Given the description of an element on the screen output the (x, y) to click on. 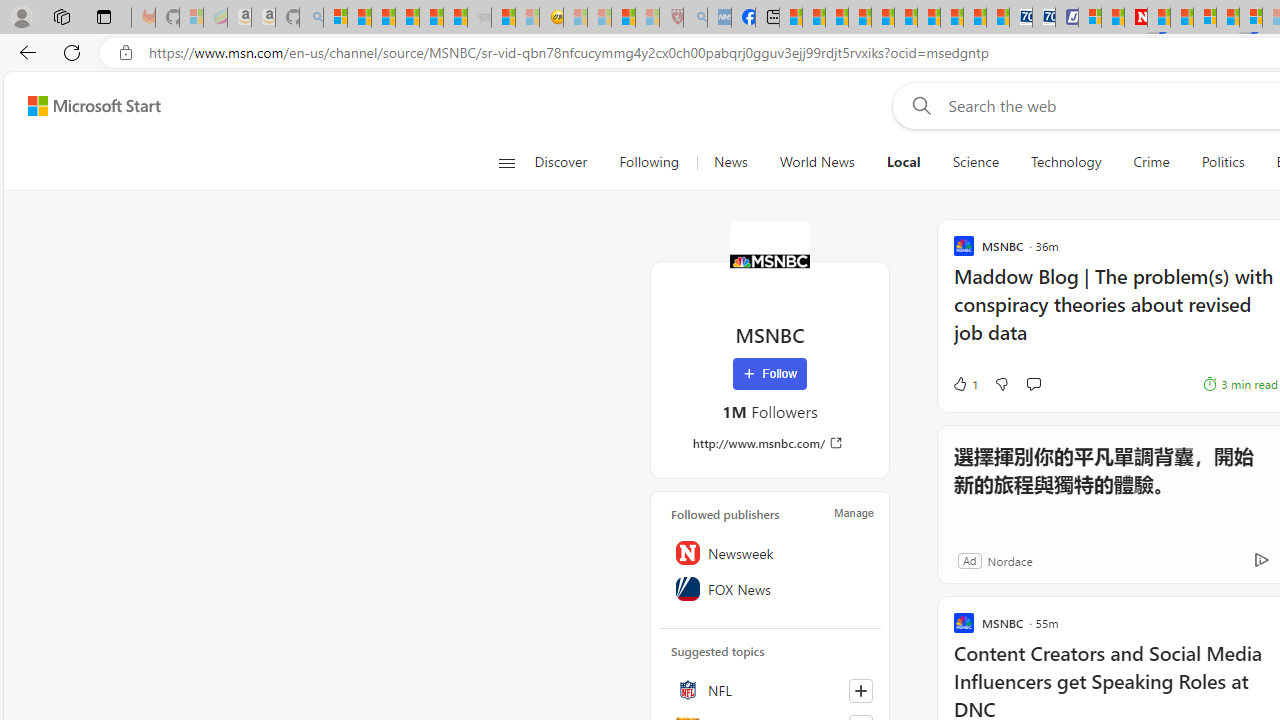
Combat Siege - Sleeping (479, 17)
MSNBC (769, 260)
Climate Damage Becomes Too Severe To Reverse (859, 17)
